Given the description of an element on the screen output the (x, y) to click on. 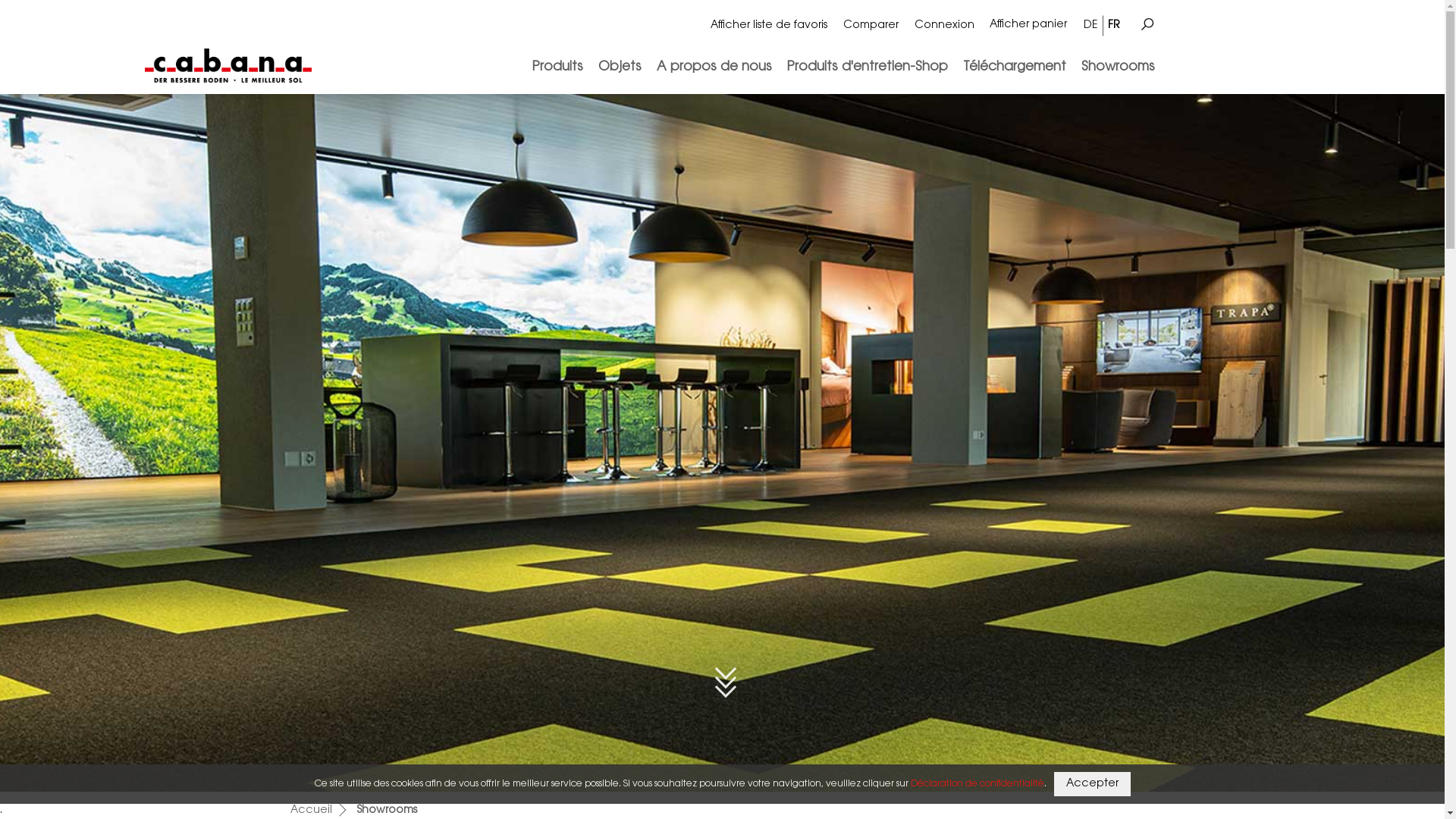
Produits Element type: text (557, 67)
Showrooms Element type: text (1113, 67)
A propos de nous Element type: text (714, 67)
DE Element type: text (1092, 25)
Accueil Element type: text (310, 810)
Produits d'entretien-Shop Element type: text (867, 67)
Afficher panier Element type: text (1027, 25)
Comparer Element type: text (870, 25)
Afficher liste de favoris Element type: text (768, 25)
Objets Element type: text (618, 67)
Accepter Element type: text (1092, 783)
Connexion Element type: text (944, 25)
